Given the description of an element on the screen output the (x, y) to click on. 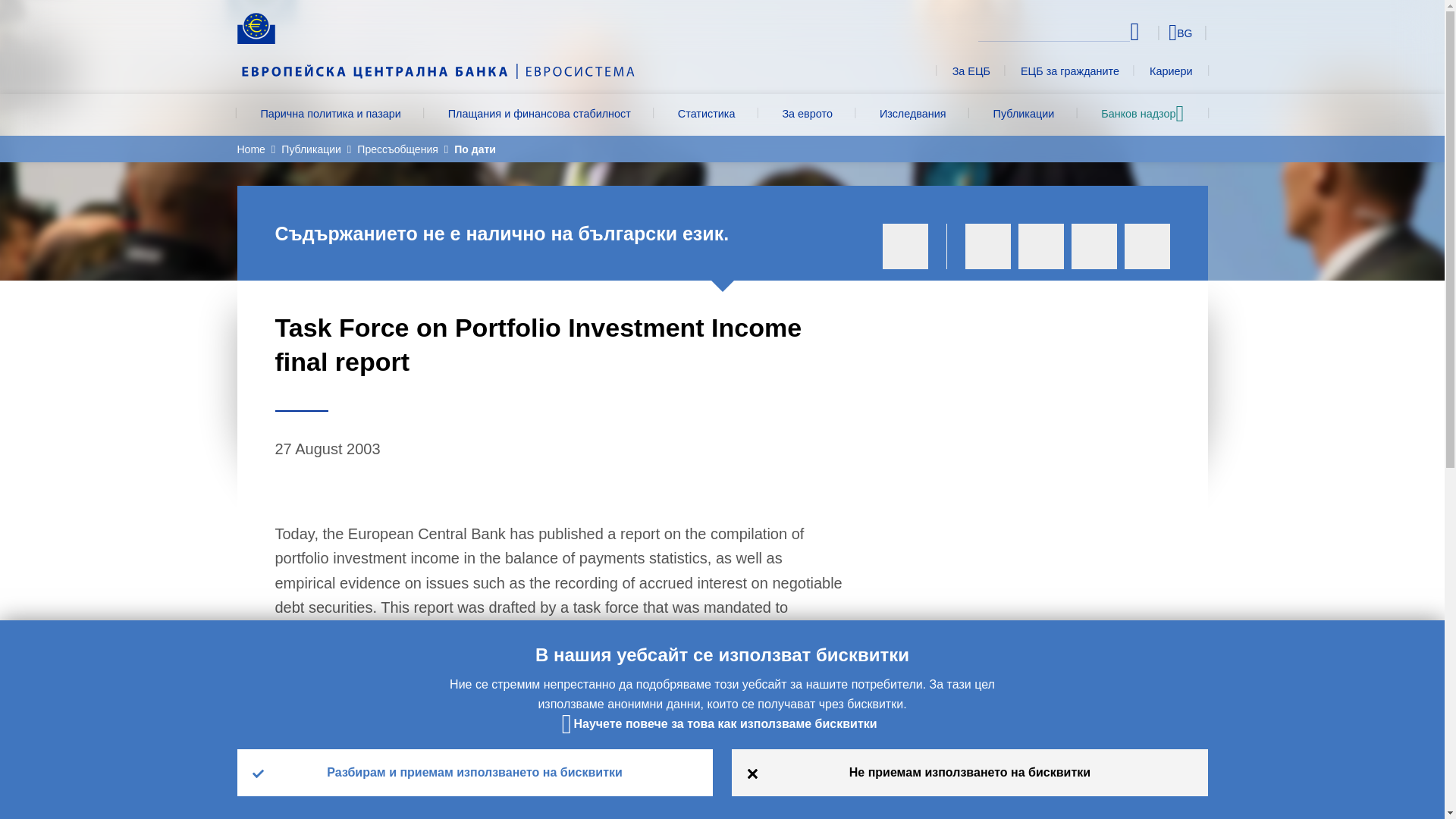
Select language (1153, 32)
